Given the description of an element on the screen output the (x, y) to click on. 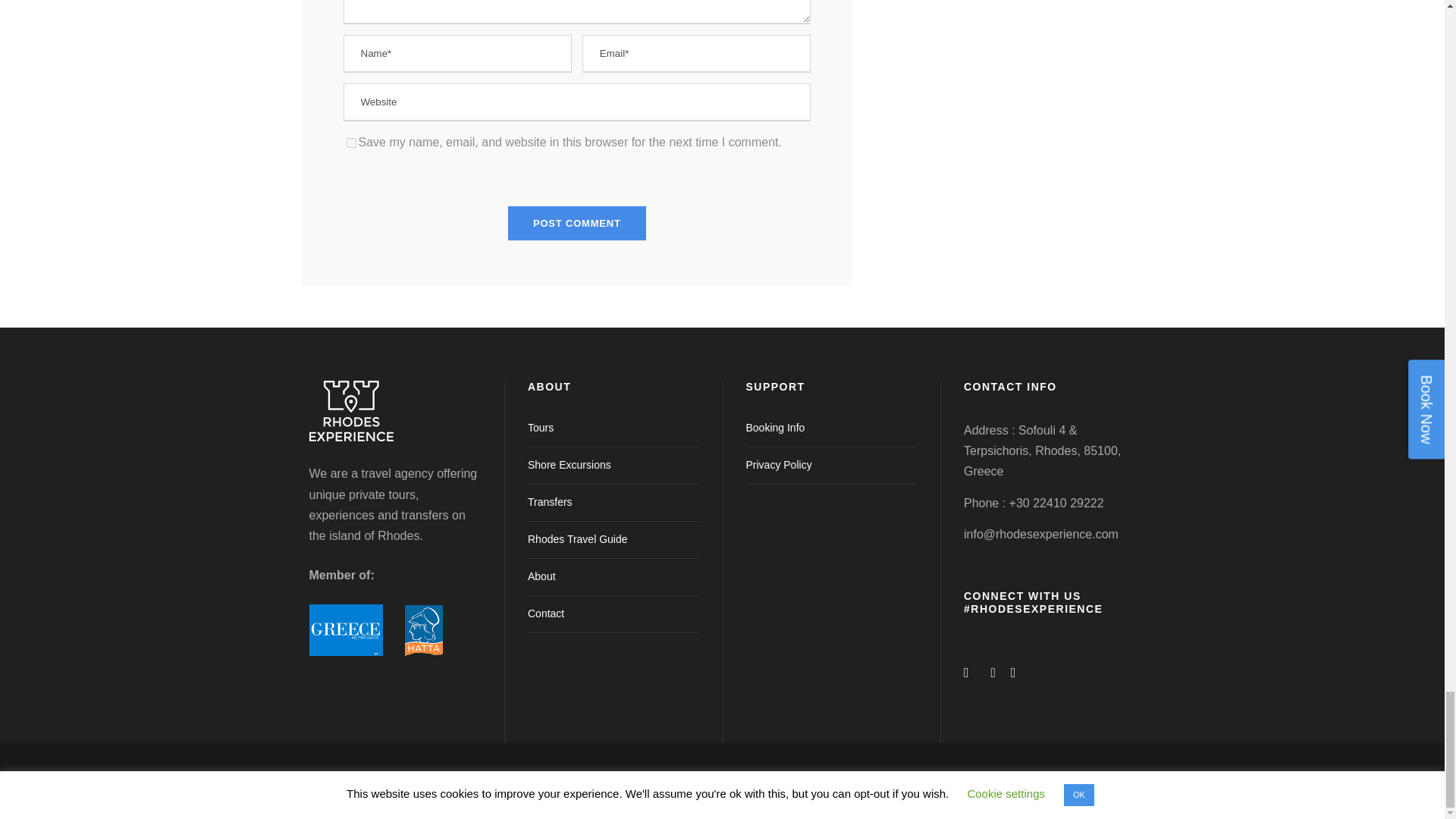
yes (350, 143)
Post Comment (577, 223)
